Given the description of an element on the screen output the (x, y) to click on. 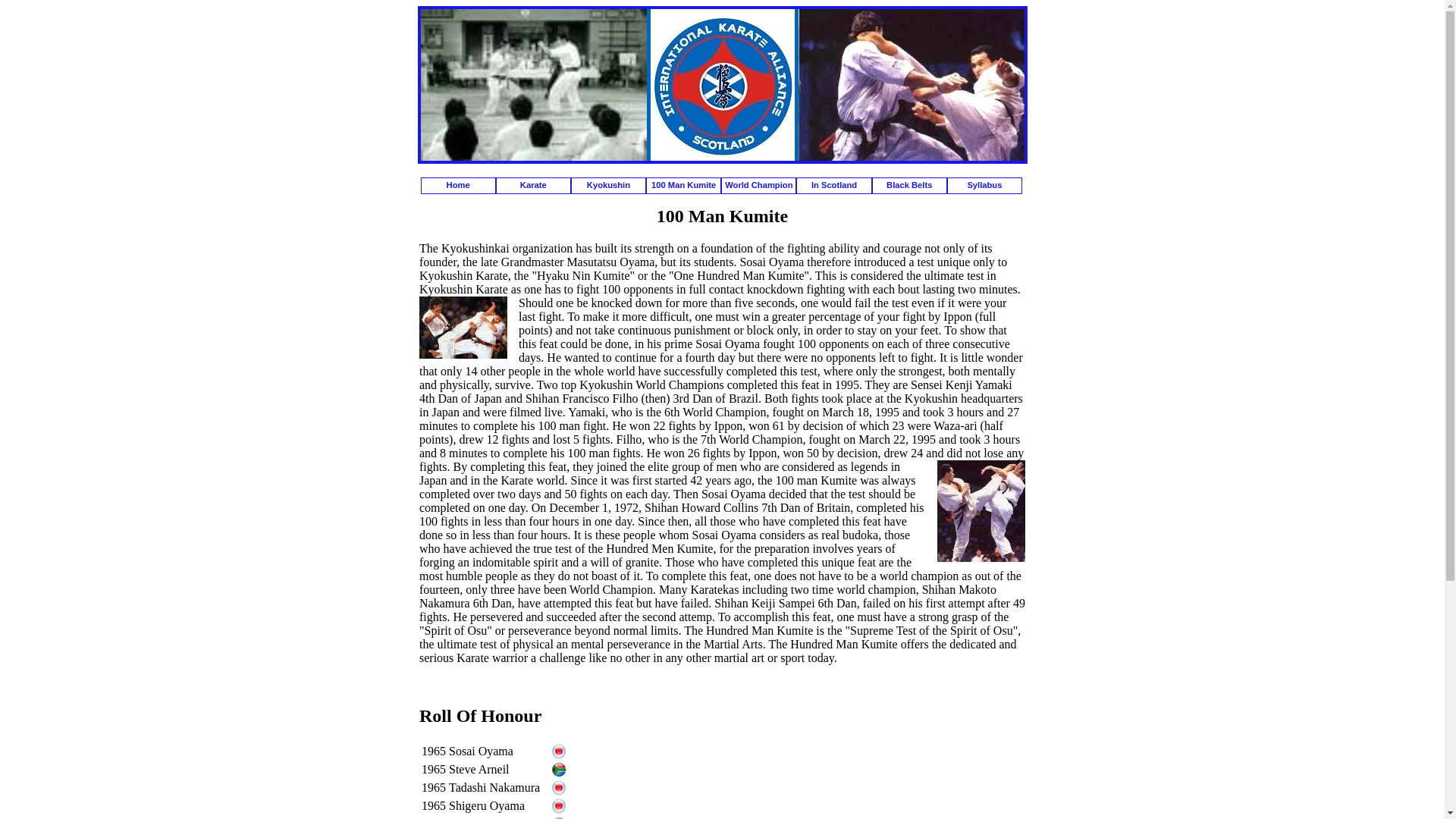
World Champion (758, 185)
Karate (533, 185)
Syllabus (984, 185)
100 Man Kumite (683, 185)
In Scotland (833, 185)
Black Belts (909, 185)
Home (457, 185)
Kyokushin (608, 185)
